Given the description of an element on the screen output the (x, y) to click on. 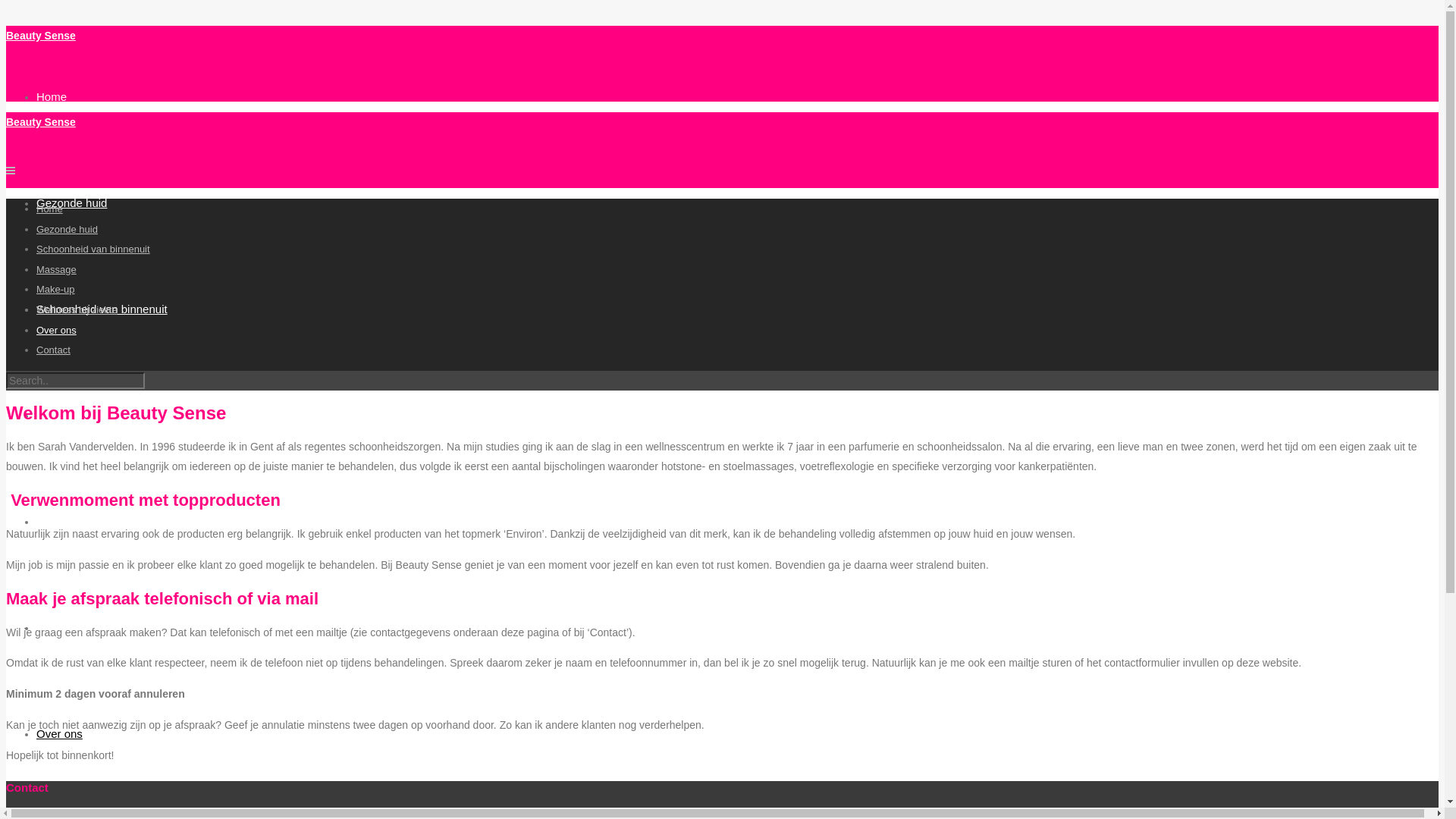
Schoonheid van binnenuit Element type: text (93, 248)
Massage Element type: text (56, 269)
Home Element type: text (51, 96)
Beauty Sense Element type: text (40, 35)
Gezonde huid Element type: text (66, 229)
Schoonheid van binnenuit Element type: text (101, 308)
Massage Element type: text (59, 414)
Home Element type: text (49, 208)
Make-up Element type: text (58, 520)
Gezonde huid Element type: text (71, 202)
Beauty Sense Element type: text (40, 122)
Contact Element type: text (53, 349)
Over ons Element type: text (56, 329)
Over ons Element type: text (59, 733)
Wellness bij ziekte Element type: text (82, 627)
Make-up Element type: text (55, 288)
Wellness bij ziekte Element type: text (76, 309)
